Given the description of an element on the screen output the (x, y) to click on. 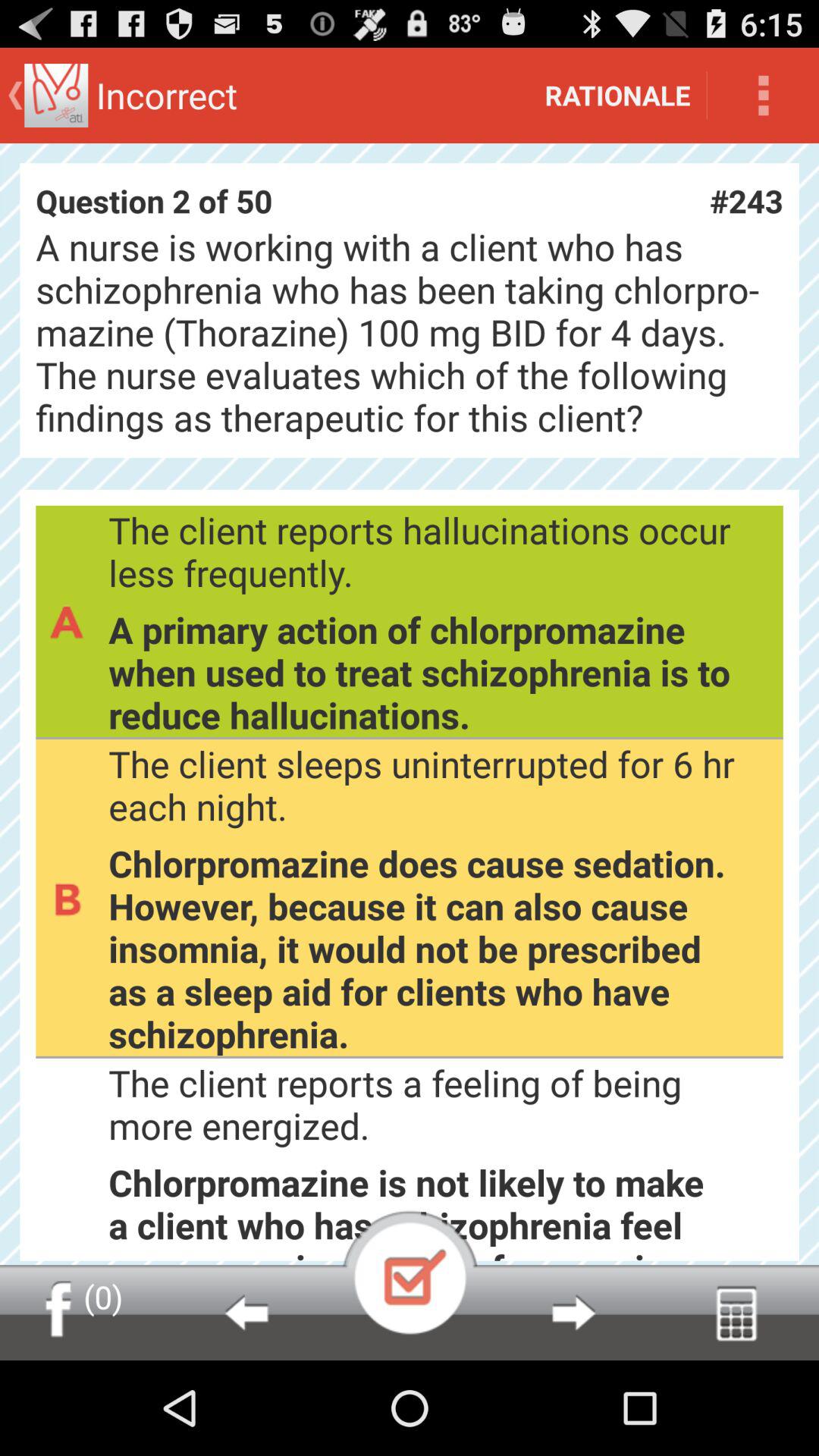
choose rationale icon (617, 95)
